Given the description of an element on the screen output the (x, y) to click on. 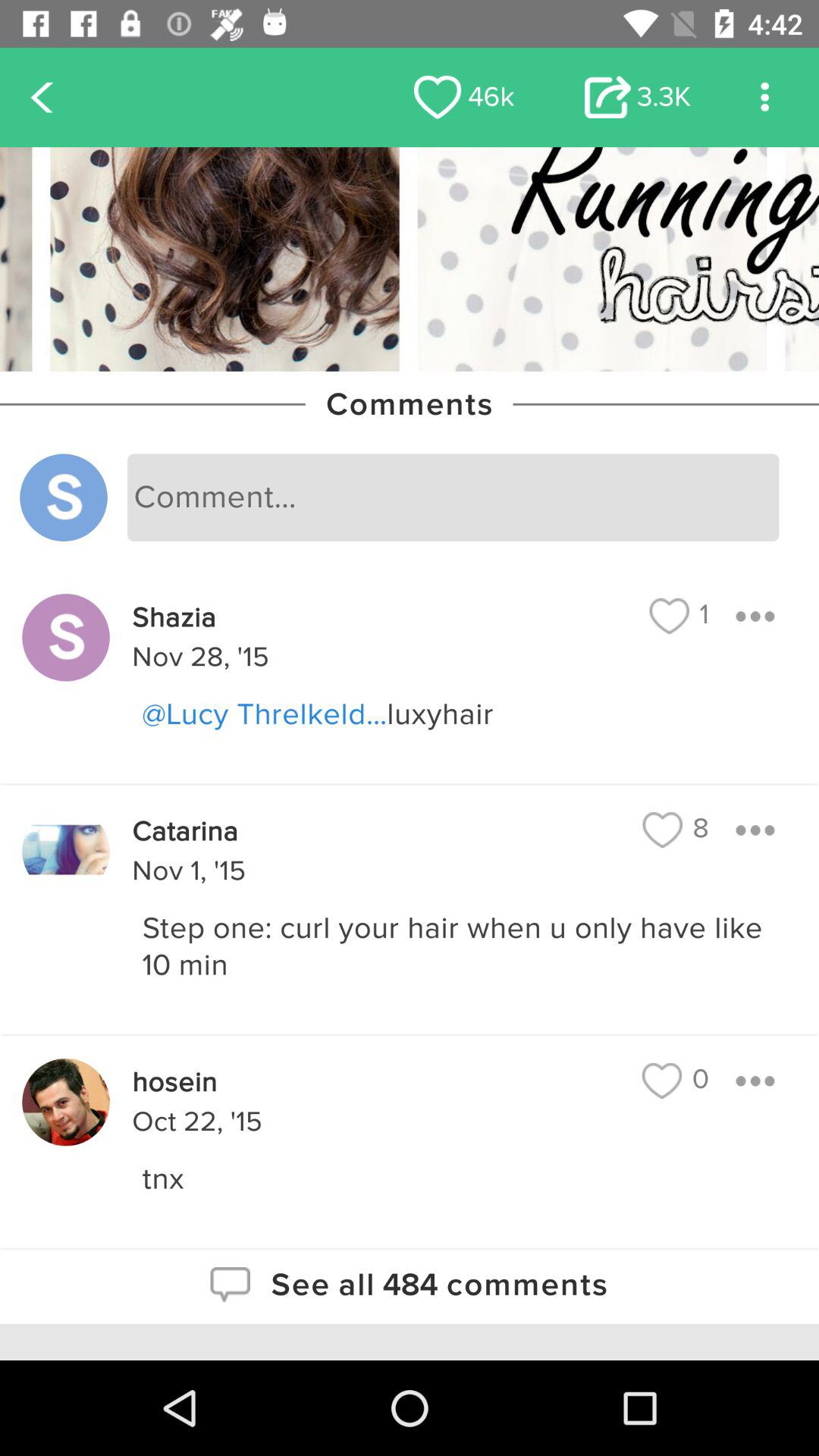
more options (755, 830)
